Given the description of an element on the screen output the (x, y) to click on. 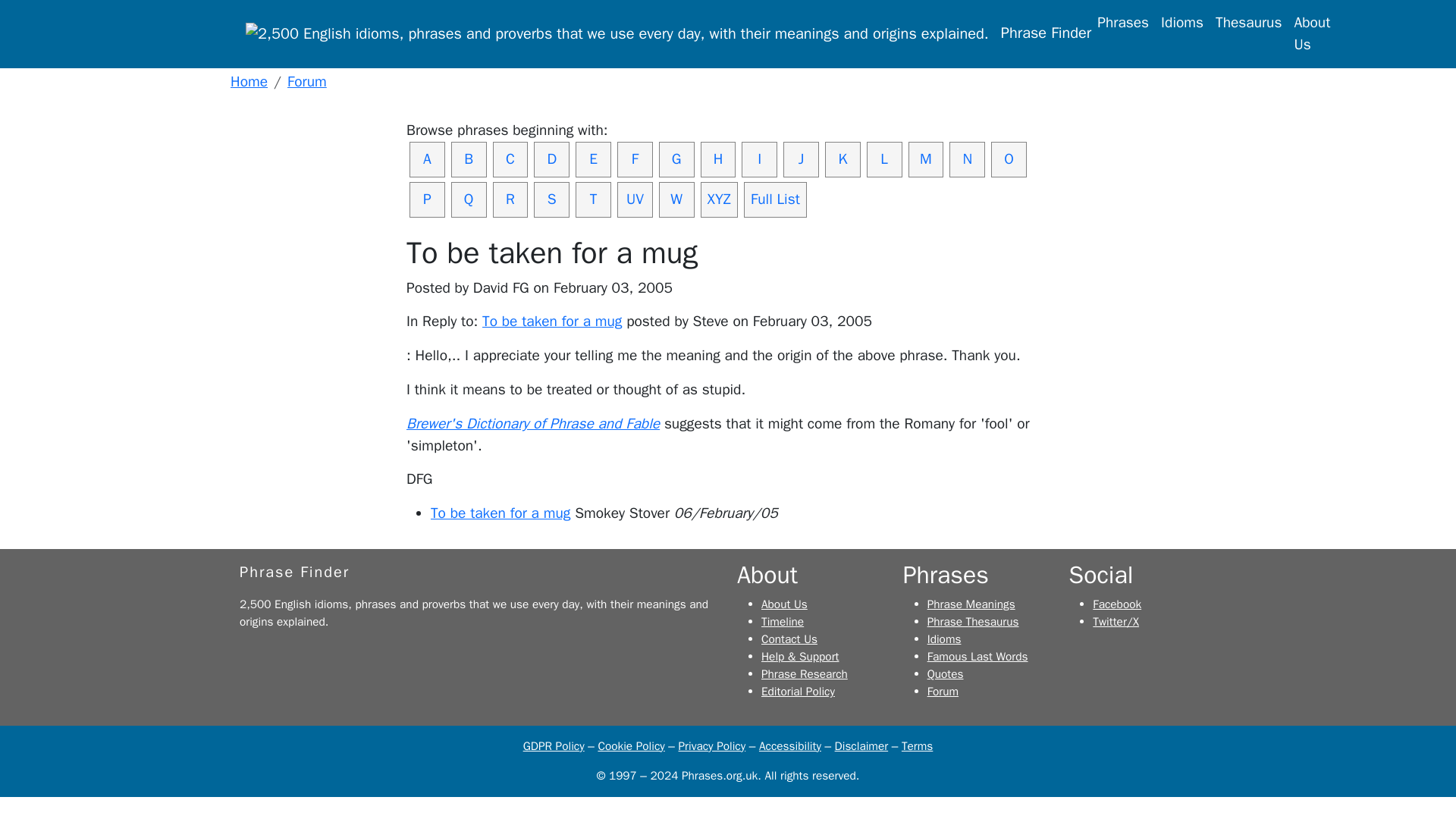
S (551, 199)
L (884, 159)
J (800, 159)
To be taken for a mug (500, 513)
F (634, 159)
E (593, 159)
Home (248, 81)
Sayings and idioms that begin with the letter R (510, 199)
To be taken for a mug (551, 321)
M (925, 159)
Sayings and idioms that begin with the letter Q (468, 199)
I (759, 159)
Sayings and idioms that begin with the letter G (676, 159)
Sayings and idioms that begin with the letter L (884, 159)
Forum (306, 81)
